Given the description of an element on the screen output the (x, y) to click on. 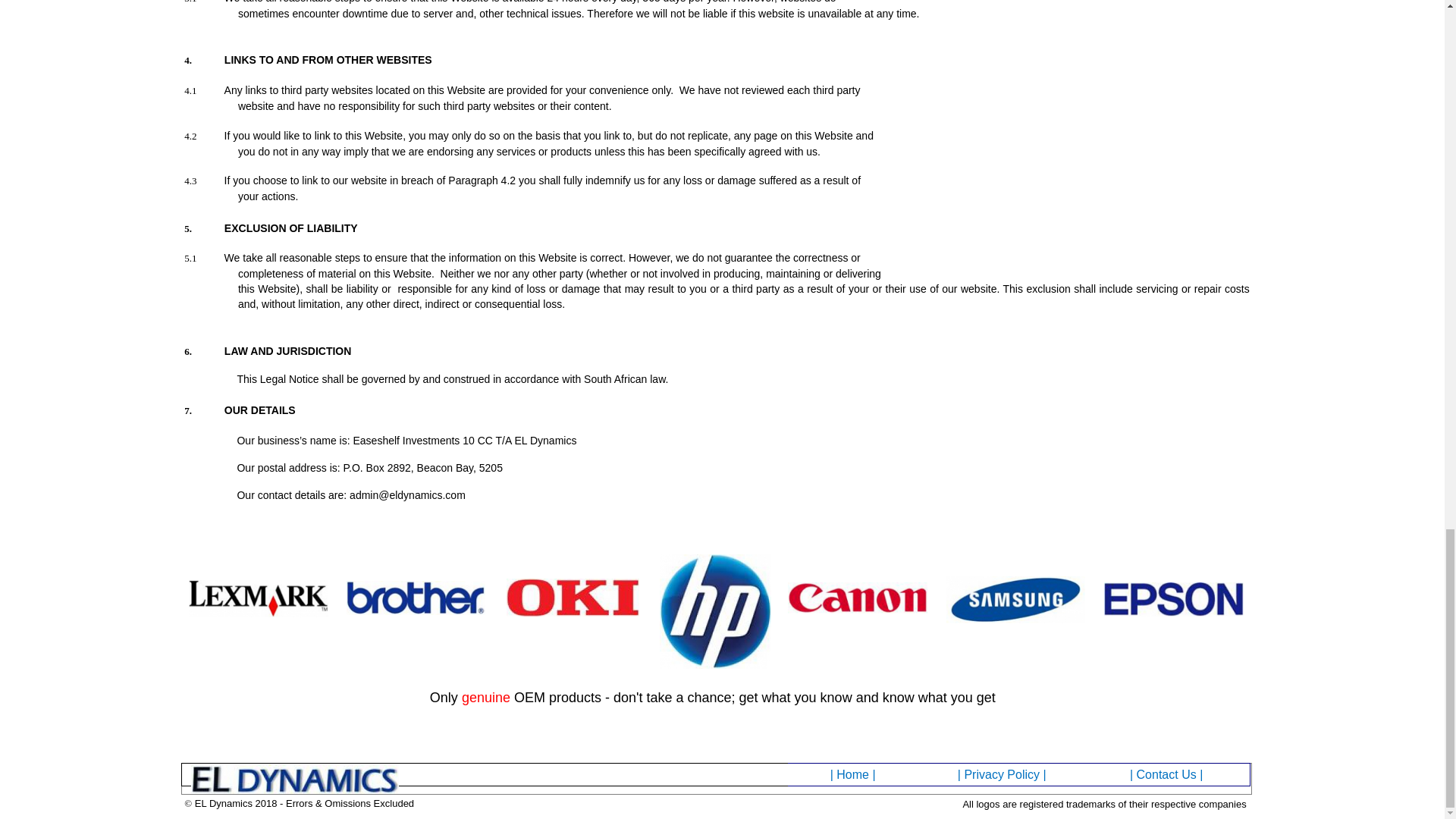
canon (857, 597)
hp (715, 611)
brother (416, 597)
oki (572, 597)
epson (1173, 599)
eldlogosml (294, 778)
lexmark (259, 597)
samsung (1016, 599)
